Given the description of an element on the screen output the (x, y) to click on. 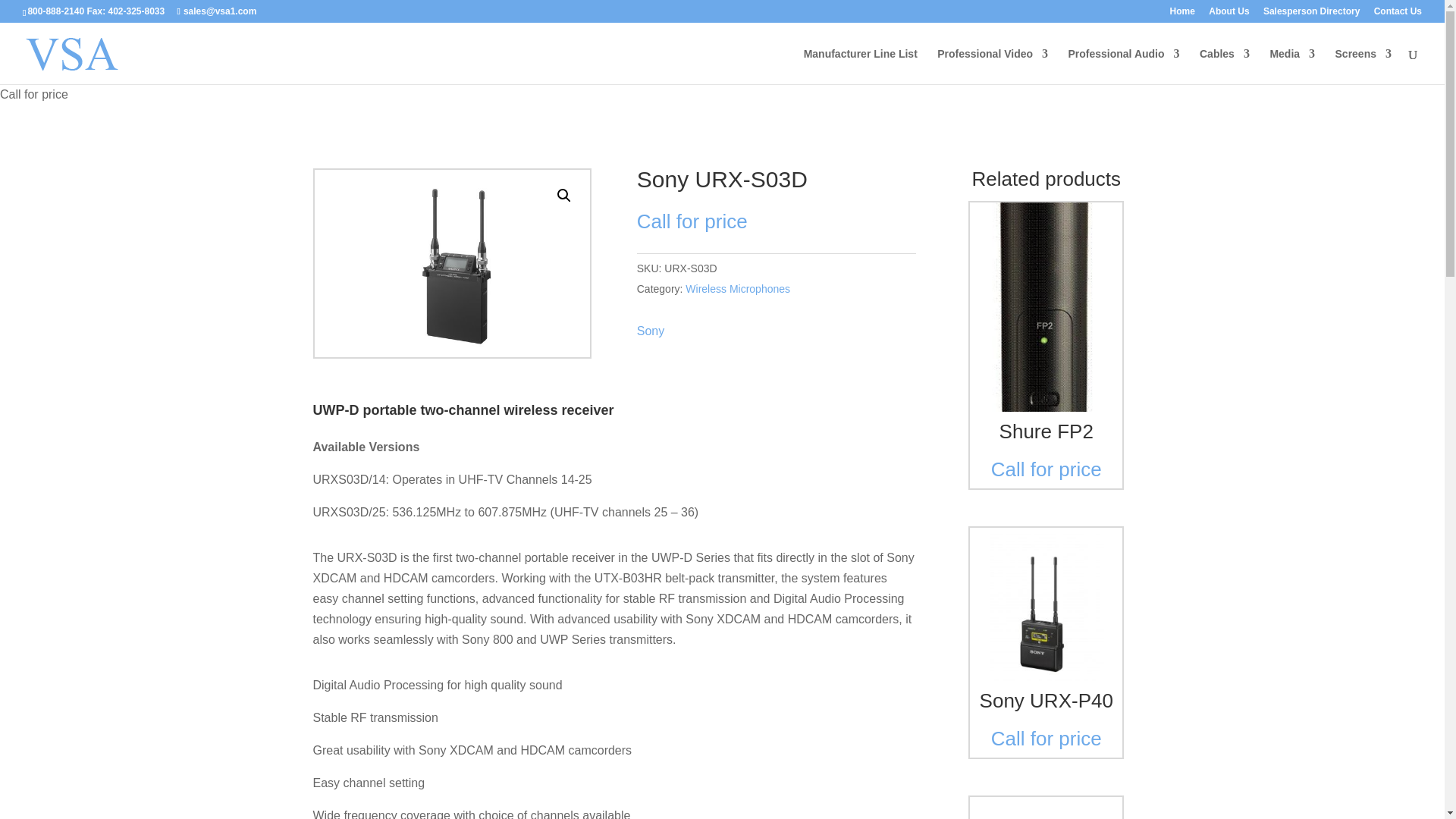
Contact Us (1398, 14)
Salesperson Directory (1311, 14)
Home (1182, 14)
Professional Video (992, 66)
About Us (1228, 14)
Manufacturer Line List (860, 66)
Professional Audio (1123, 66)
